Given the description of an element on the screen output the (x, y) to click on. 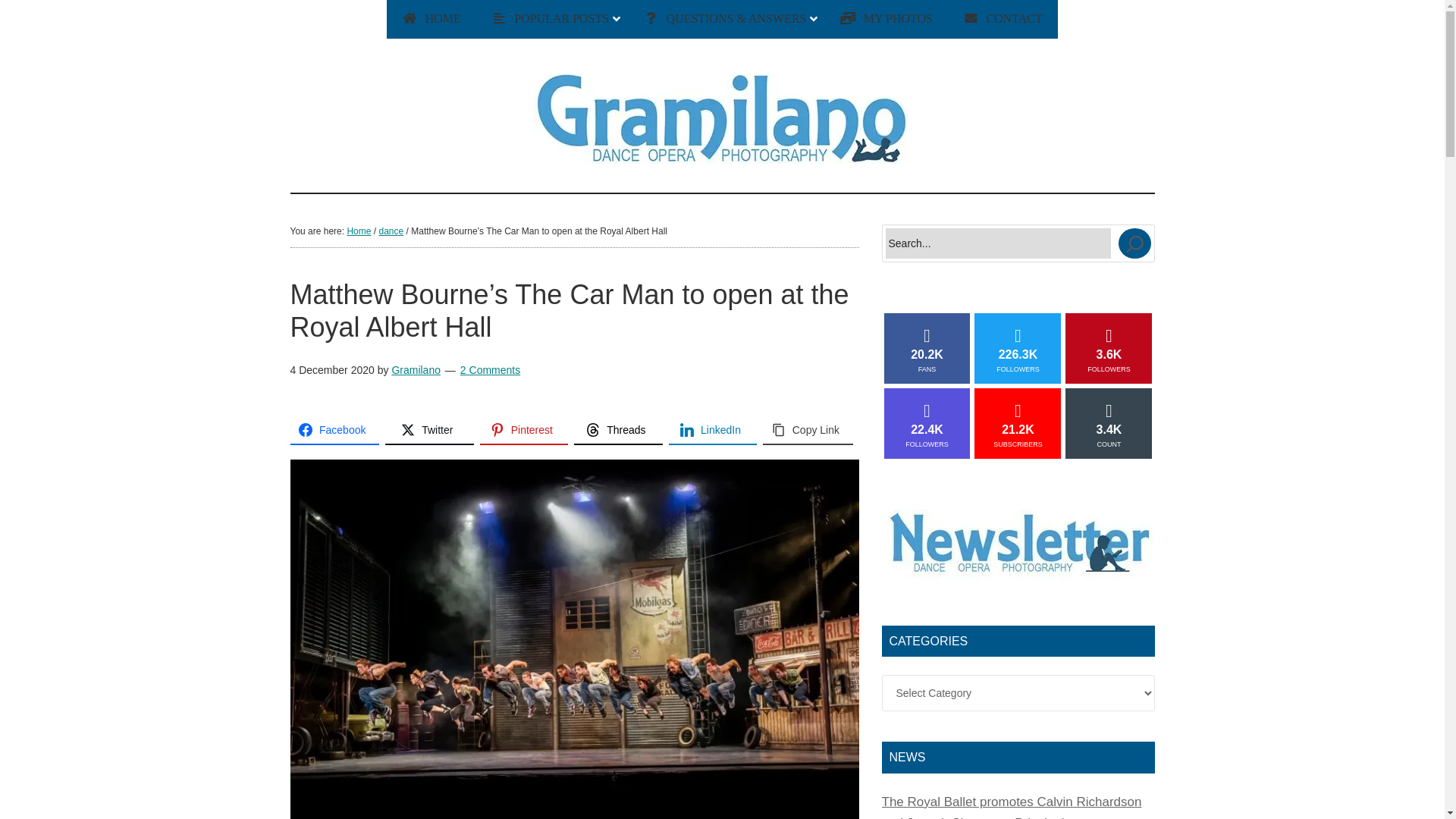
POPULAR POSTS (551, 19)
Copy Link (806, 430)
HOMEHOME (431, 19)
HOME (409, 18)
Home (358, 231)
MY PHOTOS (886, 19)
CONTACT (1002, 19)
Share on Pinterest (524, 430)
Pinterest (524, 430)
Share on Copy Link (806, 430)
LinkedIn (712, 430)
HOME (409, 18)
Share on Threads (617, 430)
Share on Facebook (333, 430)
